Given the description of an element on the screen output the (x, y) to click on. 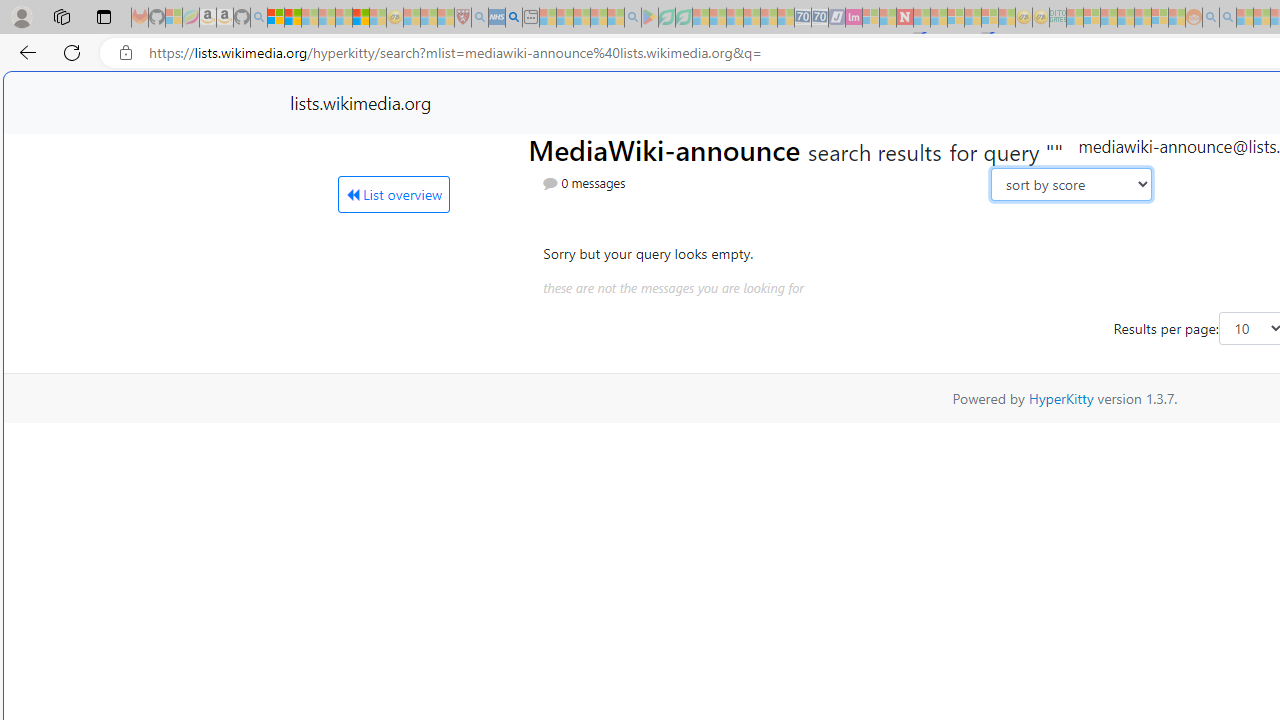
AutomationID: sort-search (1070, 183)
lists.wikimedia.org (360, 102)
